Given the description of an element on the screen output the (x, y) to click on. 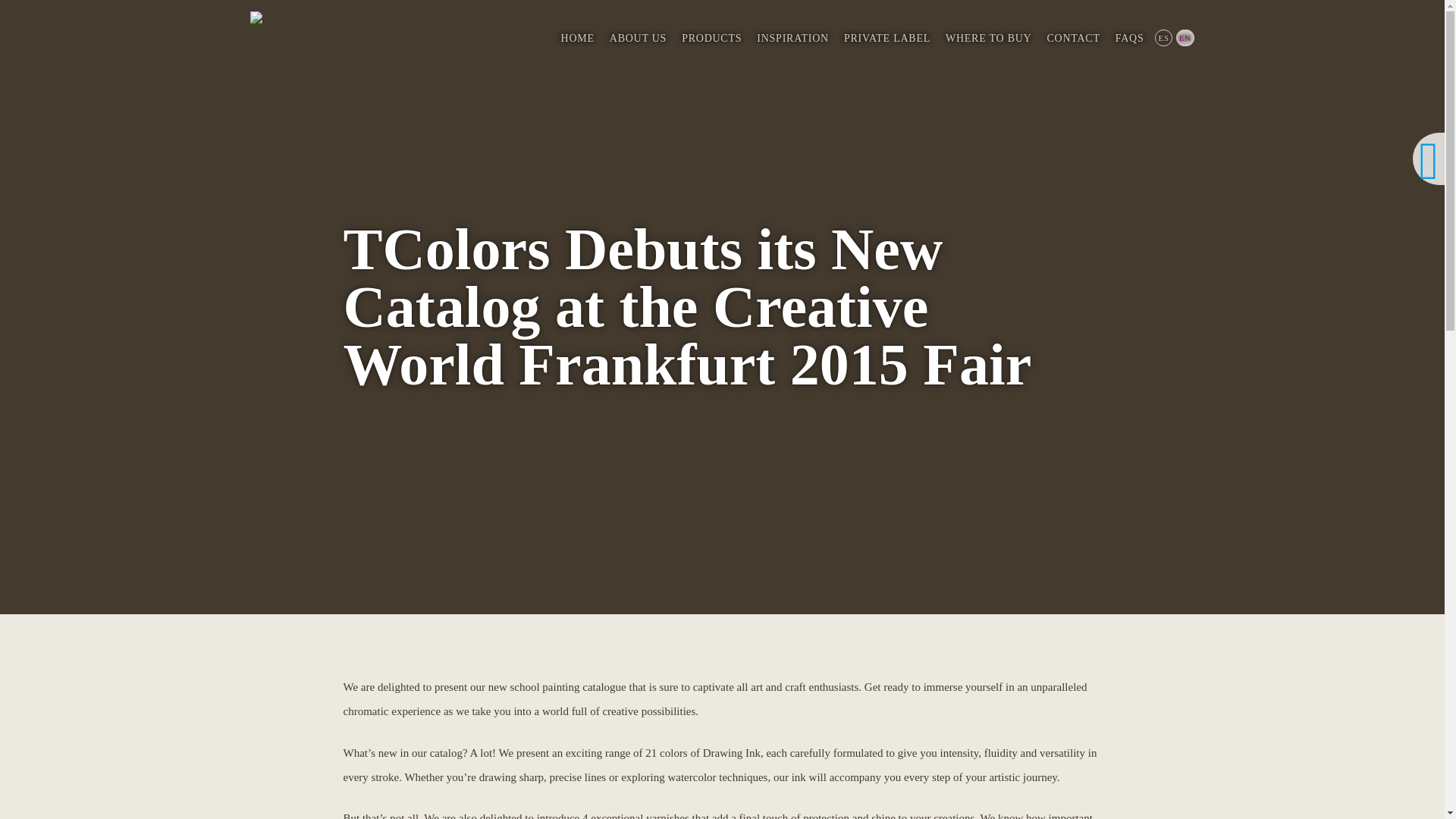
ES (1161, 37)
ES (1161, 37)
INSPIRATION (792, 37)
EN (1182, 37)
WHERE TO BUY (988, 37)
ABOUT US (638, 37)
PRIVATE LABEL (886, 37)
PRODUCTS (711, 37)
FAQS (1129, 37)
HOME (577, 37)
